Given the description of an element on the screen output the (x, y) to click on. 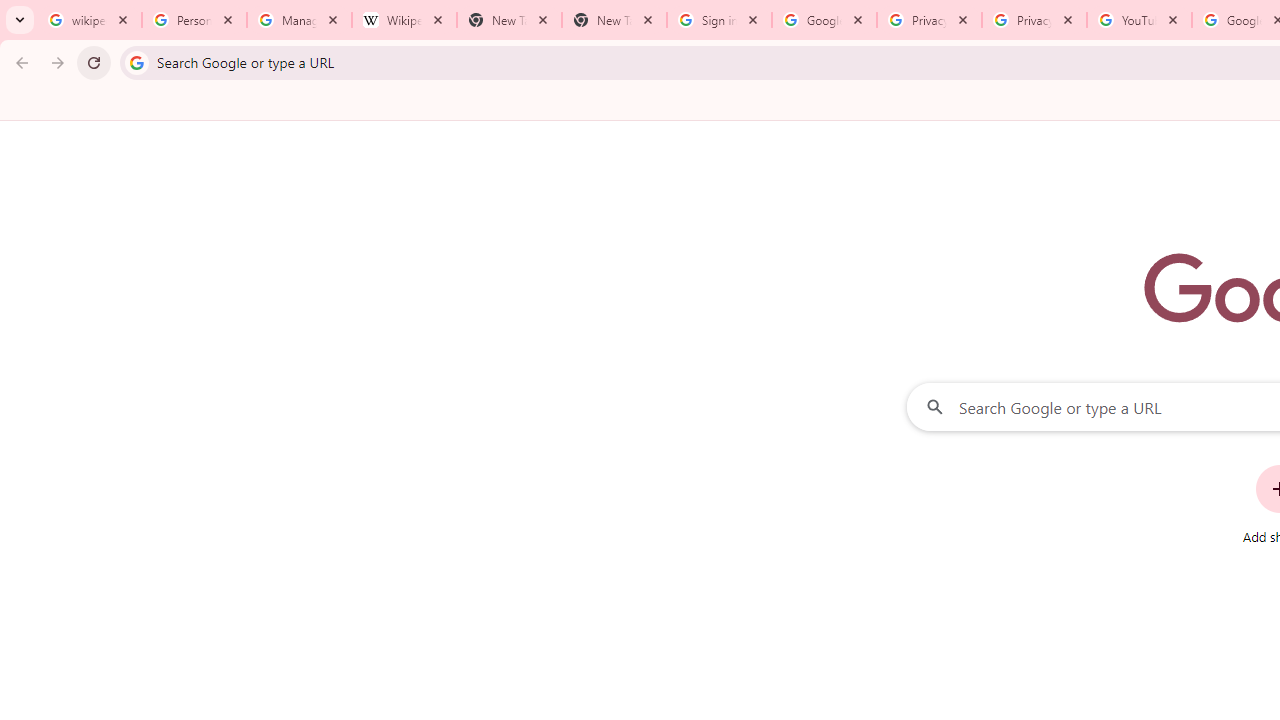
Sign in - Google Accounts (718, 20)
YouTube (1138, 20)
Manage your Location History - Google Search Help (299, 20)
Search icon (136, 62)
Personalization & Google Search results - Google Search Help (194, 20)
New Tab (613, 20)
Wikipedia:Edit requests - Wikipedia (404, 20)
